Given the description of an element on the screen output the (x, y) to click on. 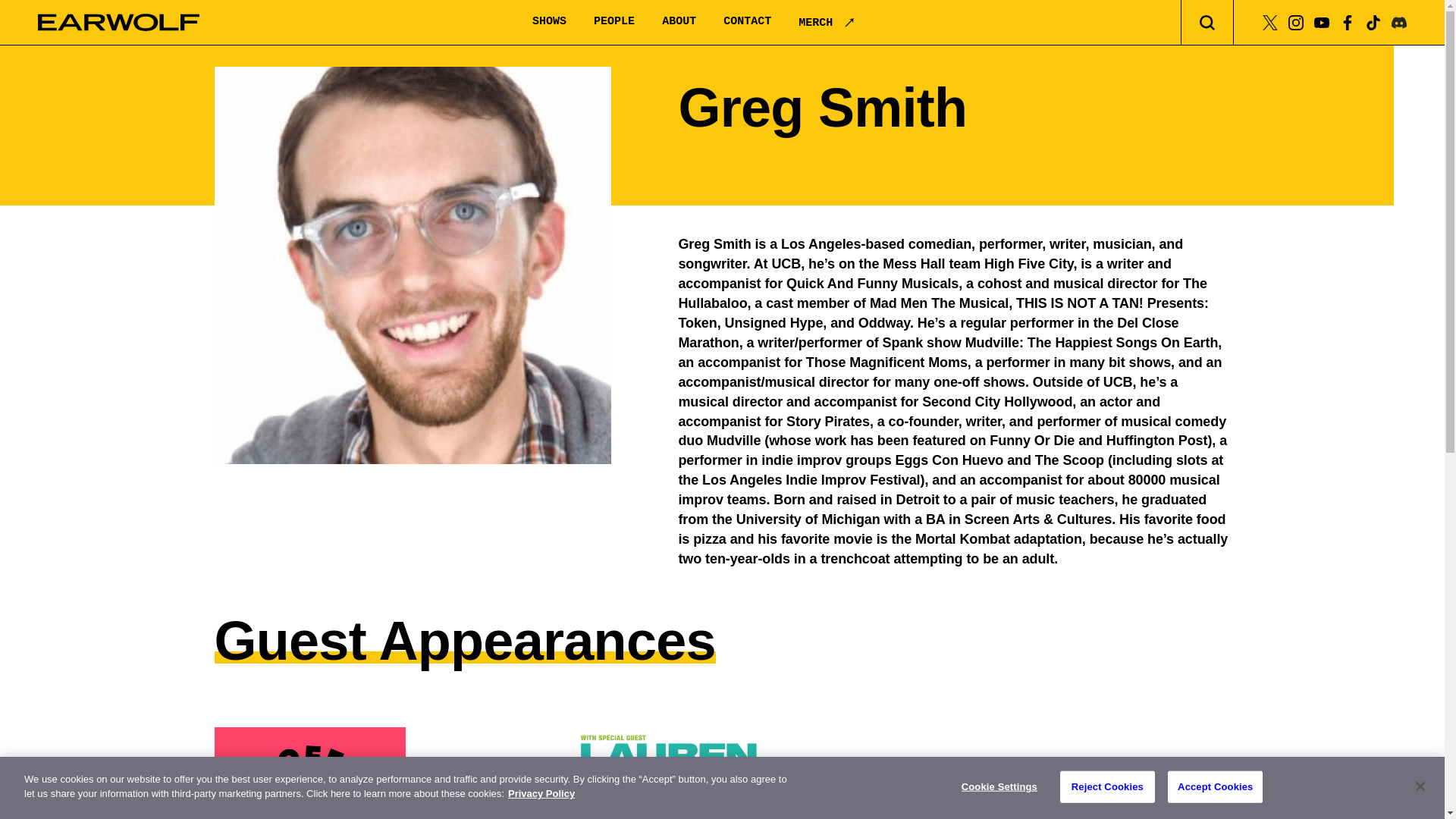
SHOWS (549, 21)
CONTACT (747, 21)
Toggle Search (1206, 22)
Earwolf (118, 22)
PEOPLE (614, 21)
ABOUT (678, 21)
YouTube (1321, 21)
Tiktok (1372, 21)
Instagram (1295, 21)
Facebook (1347, 21)
